Given the description of an element on the screen output the (x, y) to click on. 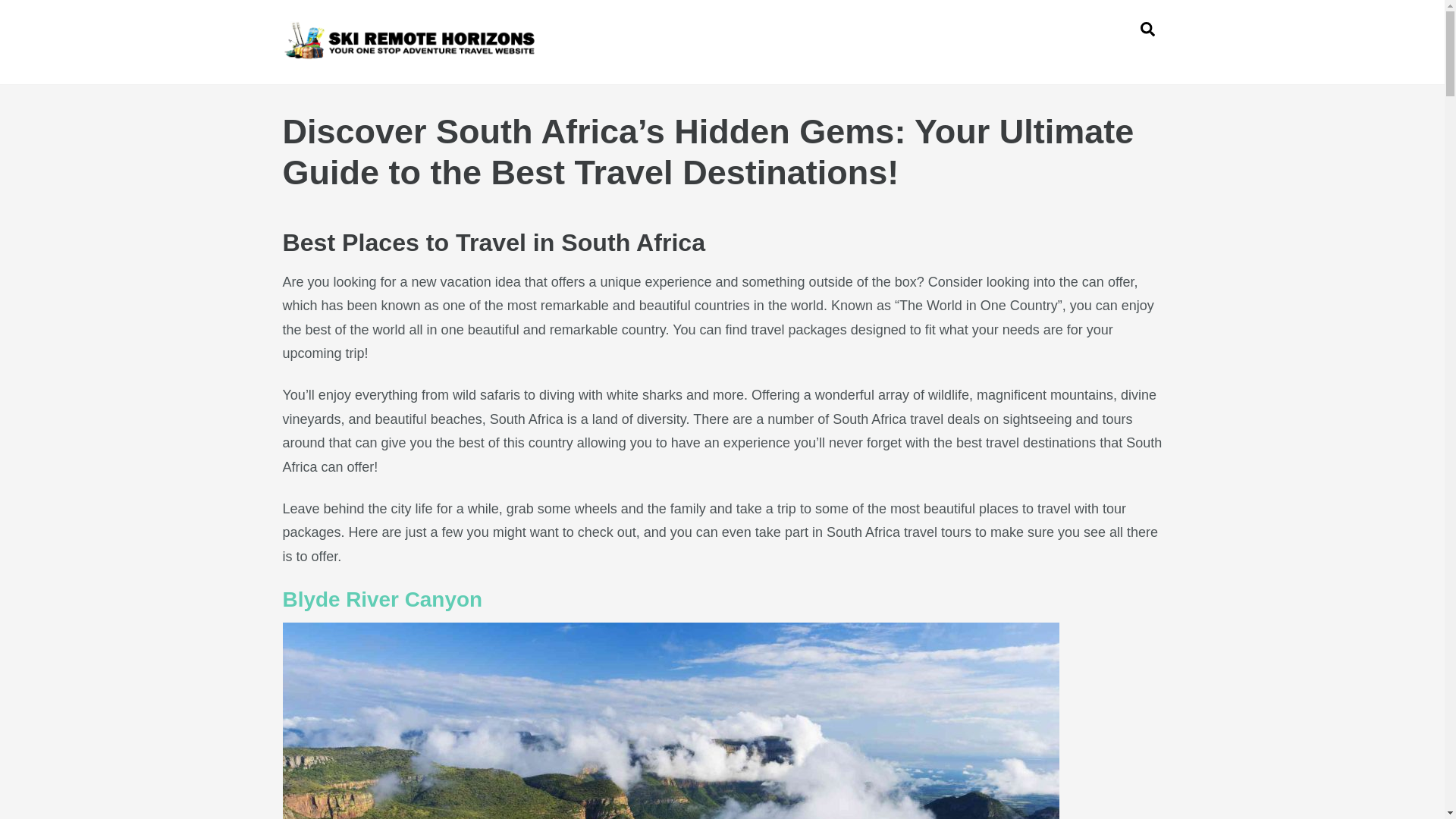
Ski Remote Horizons (414, 53)
Search (1146, 28)
Blyde River Canyon (381, 599)
Search (721, 28)
